Given the description of an element on the screen output the (x, y) to click on. 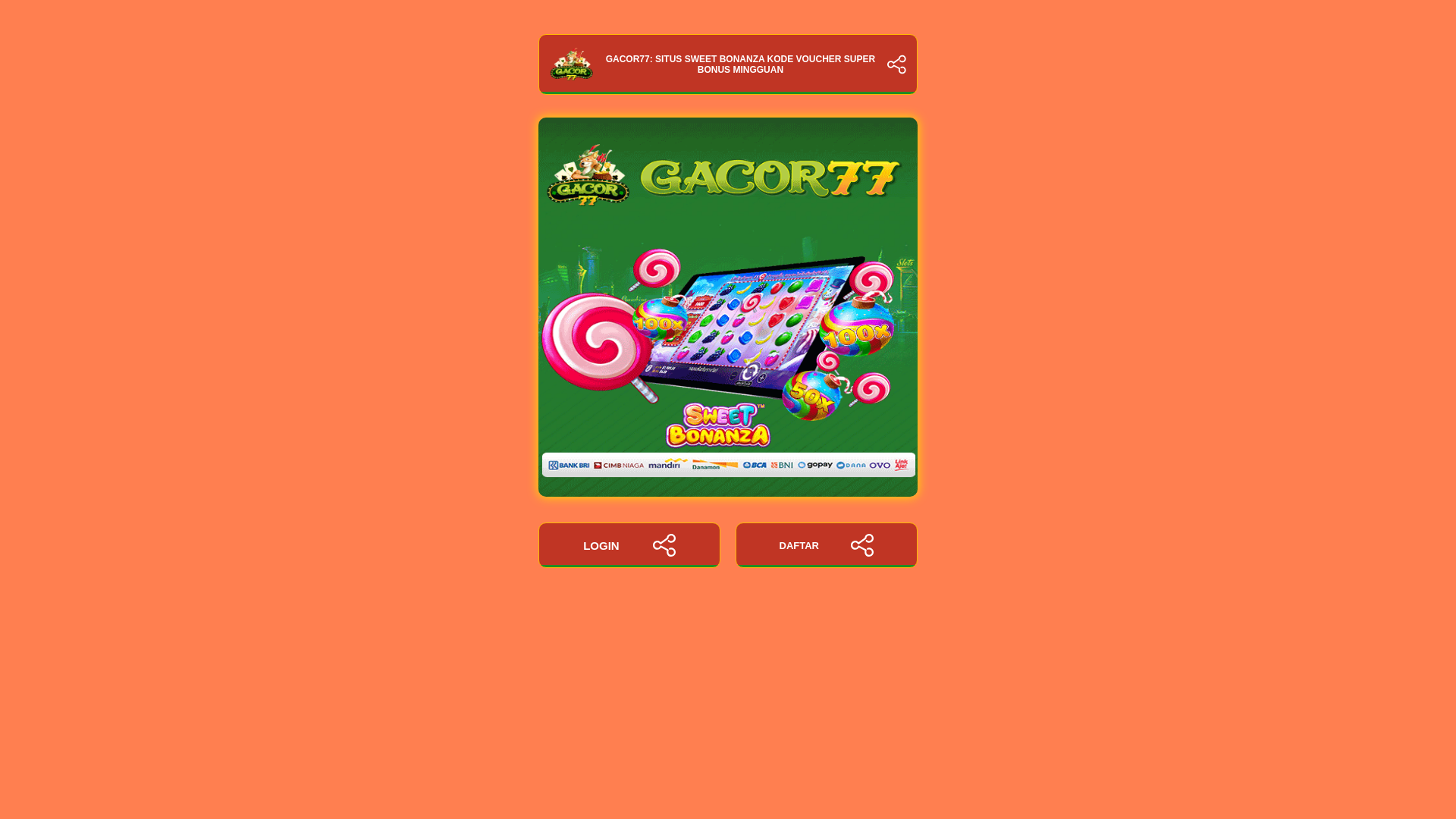
LOGIN (629, 545)
DAFTAR (826, 545)
